Given the description of an element on the screen output the (x, y) to click on. 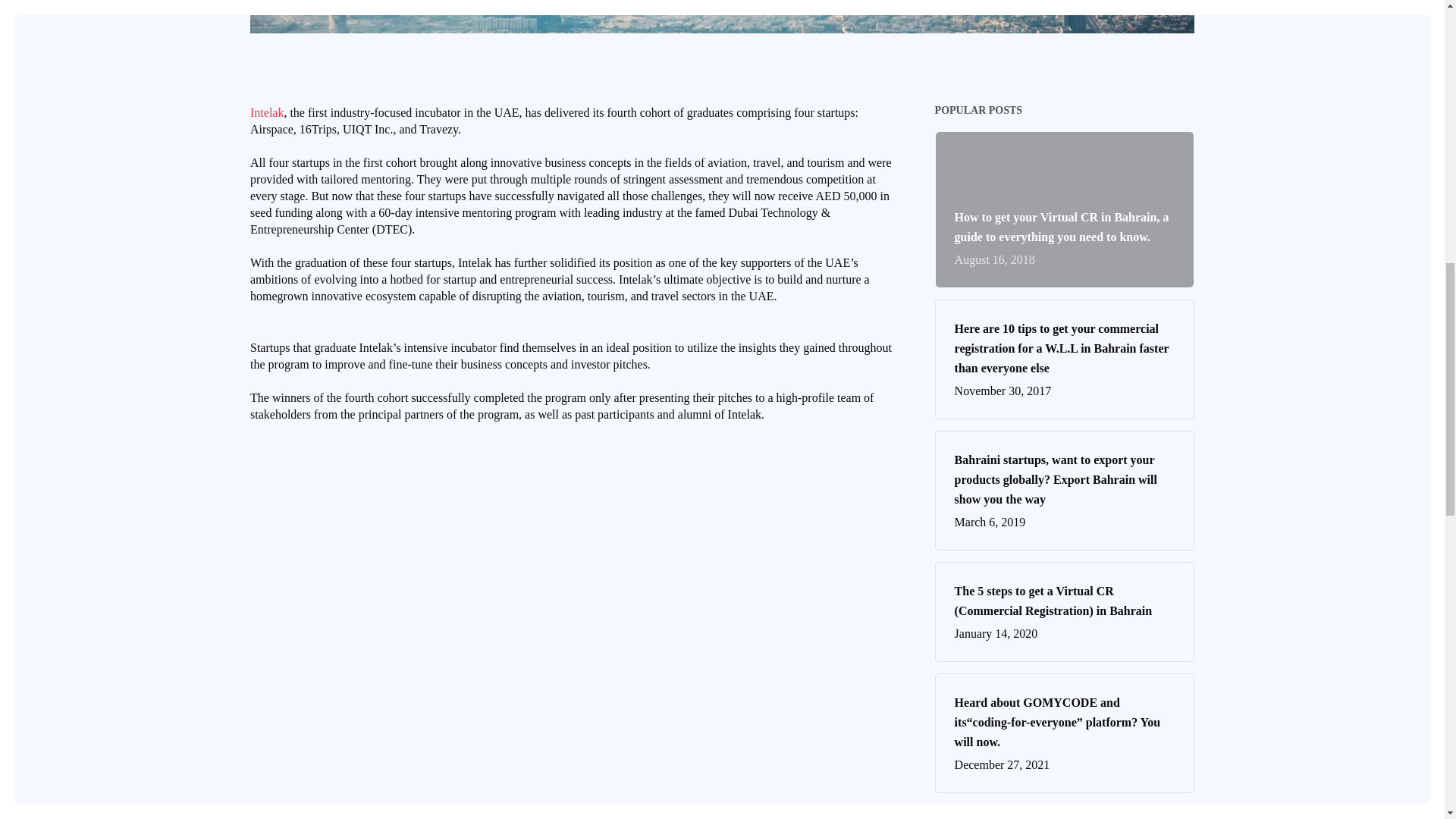
Intelak (266, 112)
